Given the description of an element on the screen output the (x, y) to click on. 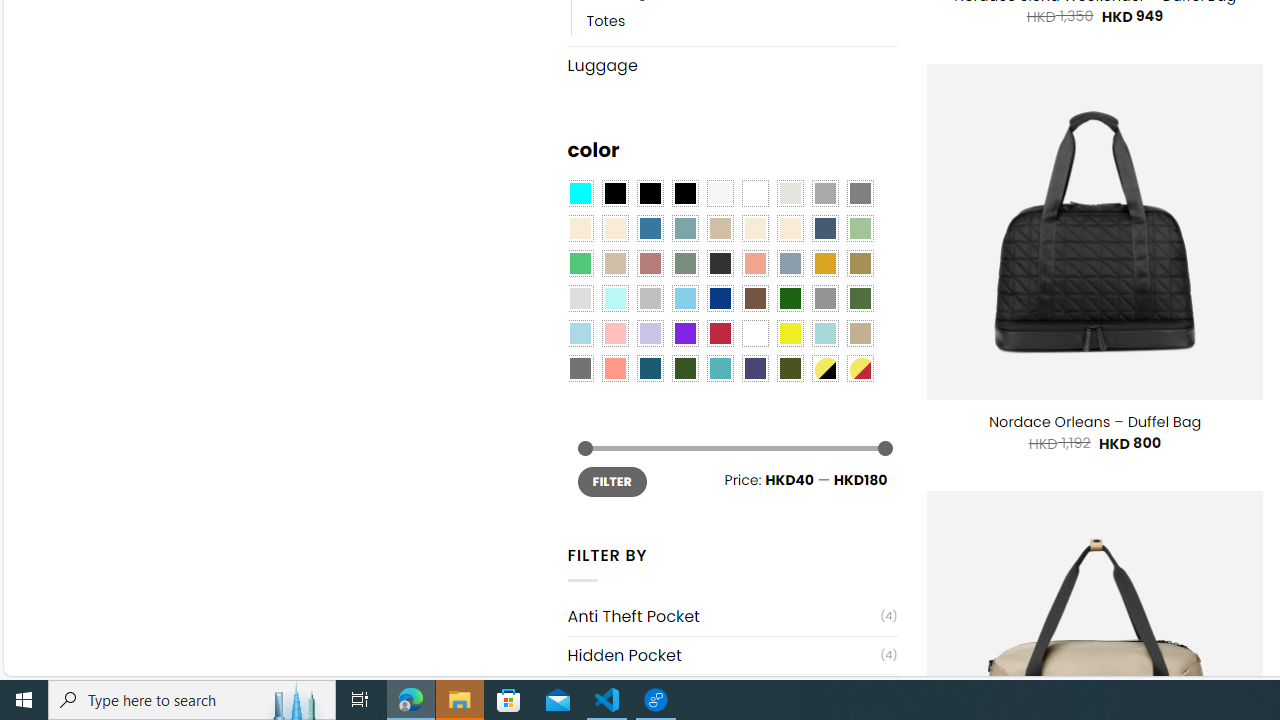
Light Taupe (614, 264)
Luggage (732, 64)
Brownie (719, 228)
Dusty Blue (789, 264)
Sage (684, 264)
Clear (755, 193)
Dark Gray (824, 193)
Luggage (732, 65)
All Gray (859, 193)
Hidden Pocket (723, 655)
Laptop Sleeve (723, 694)
Capri Blue (650, 368)
Ash Gray (789, 193)
Aqua (824, 334)
Silver (650, 298)
